Given the description of an element on the screen output the (x, y) to click on. 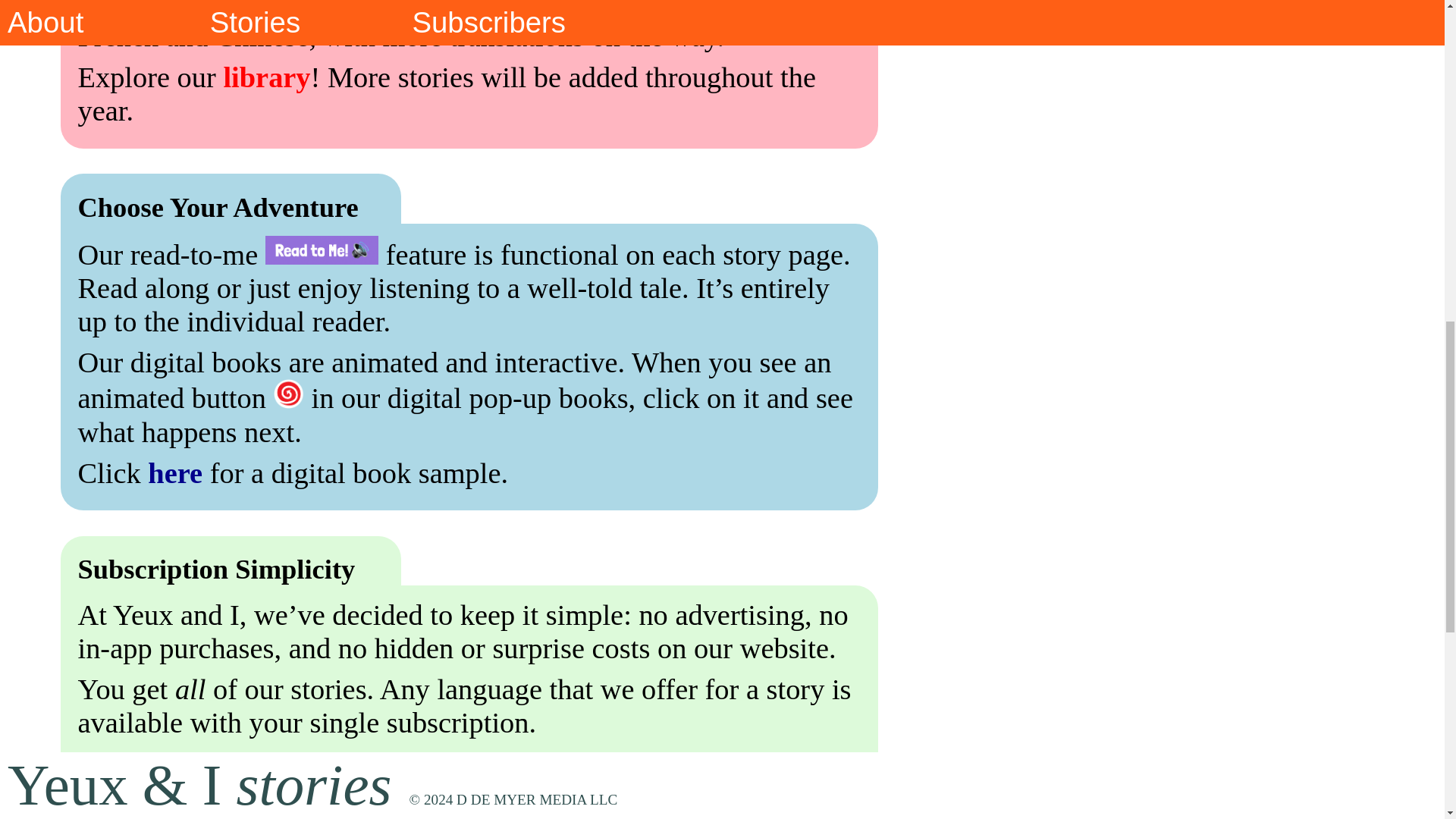
library (266, 77)
subscription (209, 763)
here (175, 472)
